Given the description of an element on the screen output the (x, y) to click on. 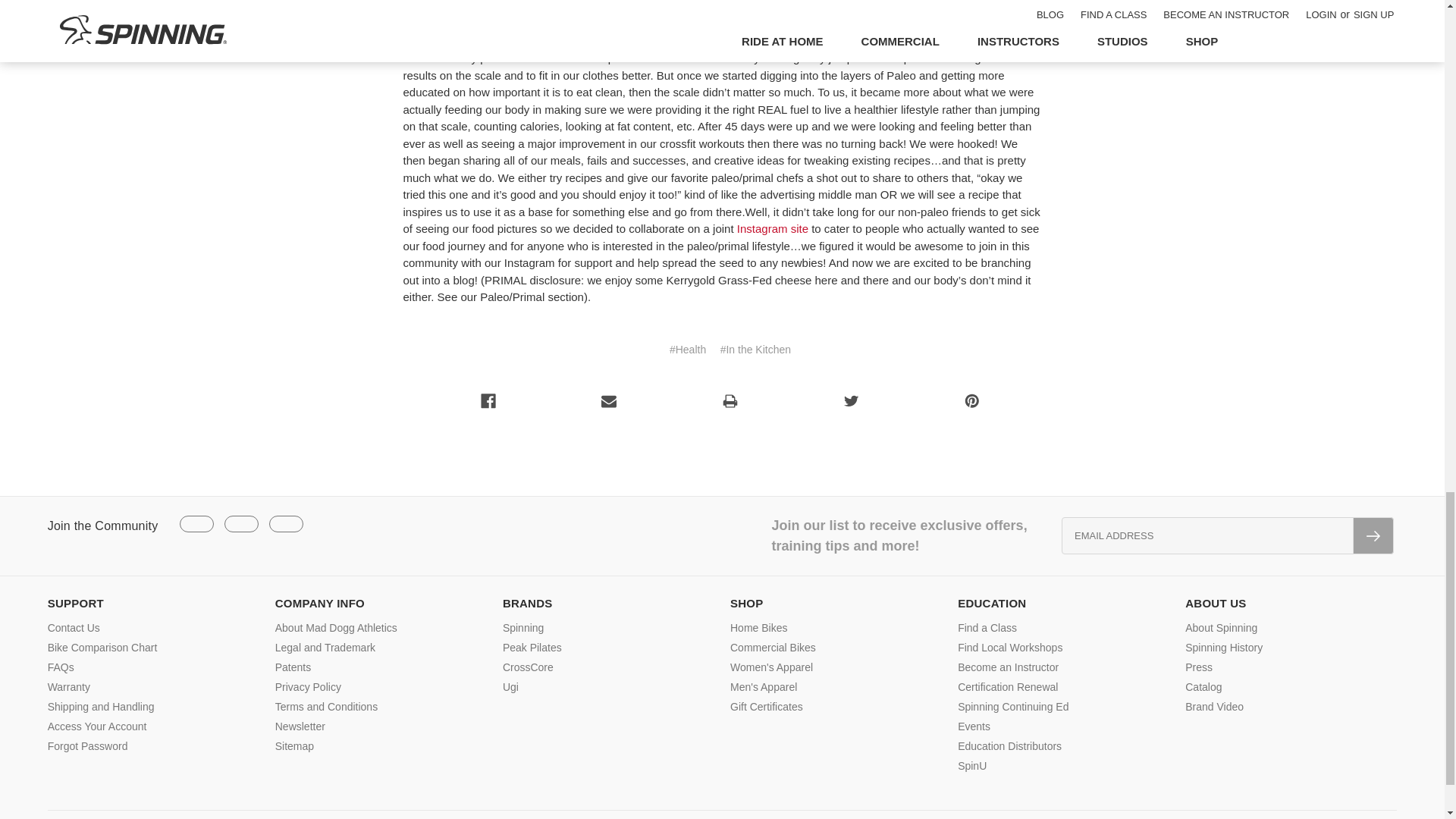
Subscribe (1372, 535)
